Given the description of an element on the screen output the (x, y) to click on. 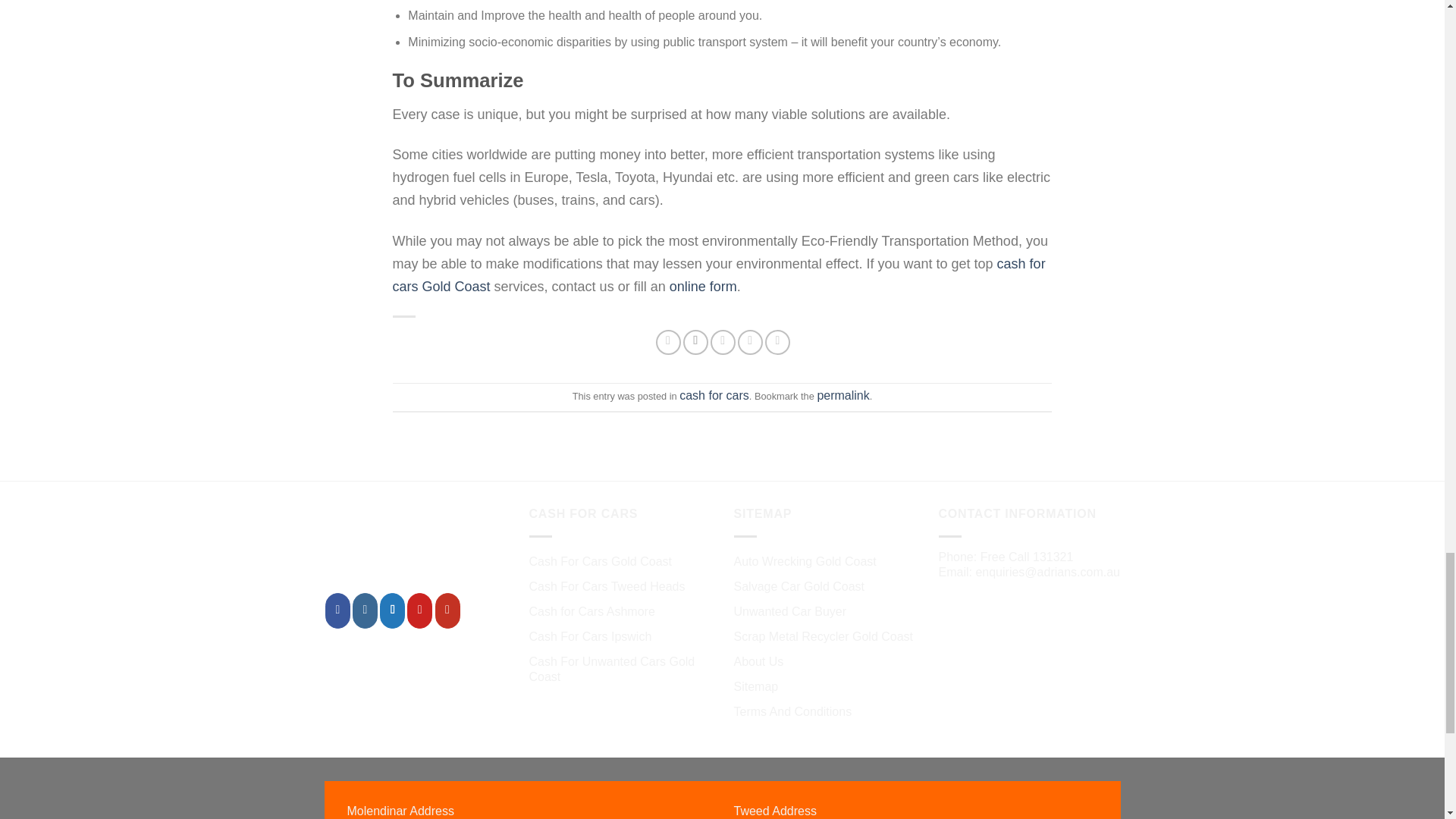
cash for cars Gold Coast (719, 275)
Share on Facebook (668, 342)
Share on LinkedIn (777, 342)
Pin on Pinterest (750, 342)
Share on Twitter (694, 342)
Email to a Friend (722, 342)
online form (702, 286)
